Given the description of an element on the screen output the (x, y) to click on. 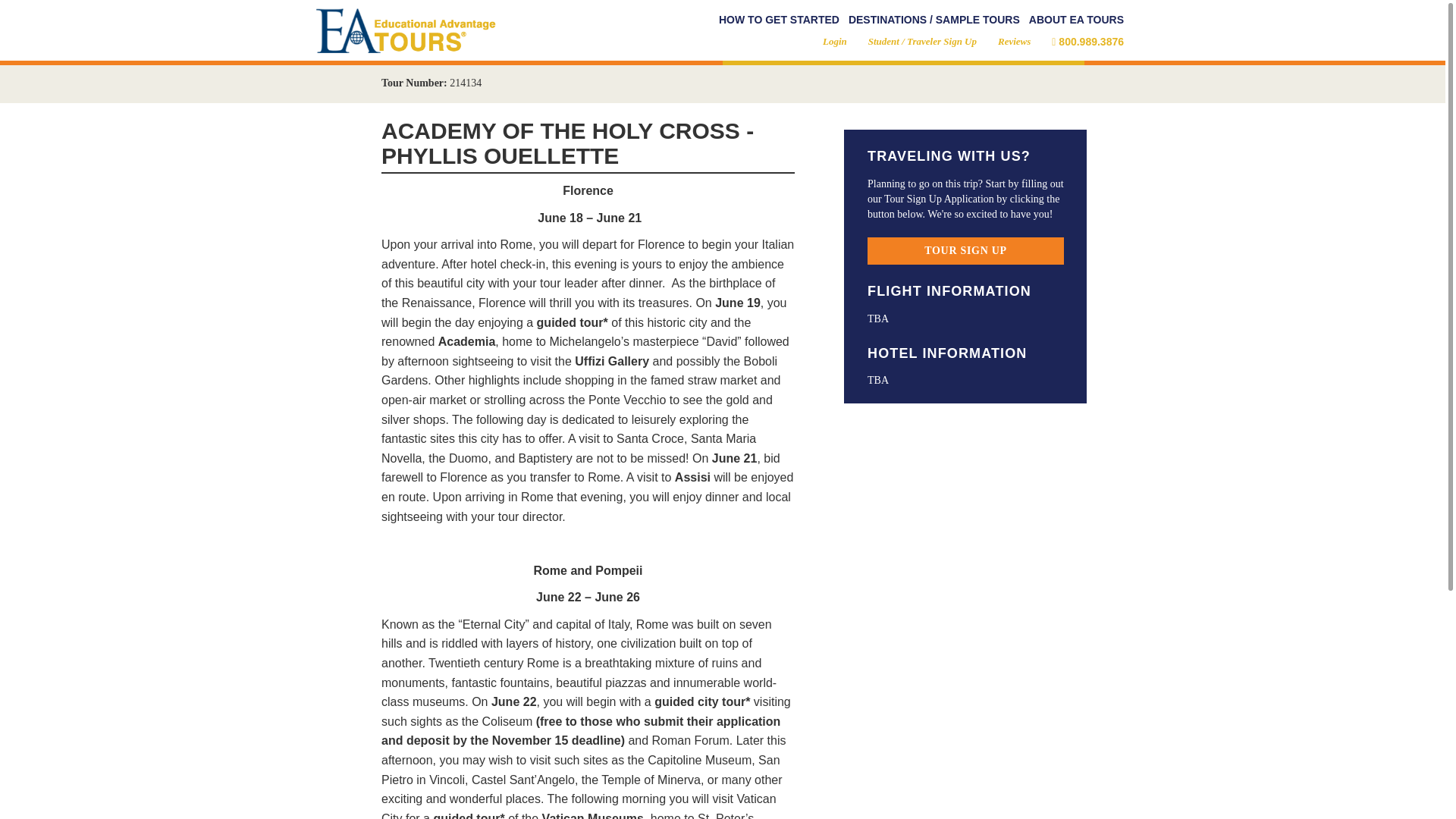
Reviews (1013, 41)
HOW TO GET STARTED (779, 19)
About EA Tours (1076, 19)
800.989.3876 (1087, 41)
Login (834, 41)
ABOUT EA TOURS (1076, 19)
Get Started (779, 19)
Destinations (934, 19)
